Given the description of an element on the screen output the (x, y) to click on. 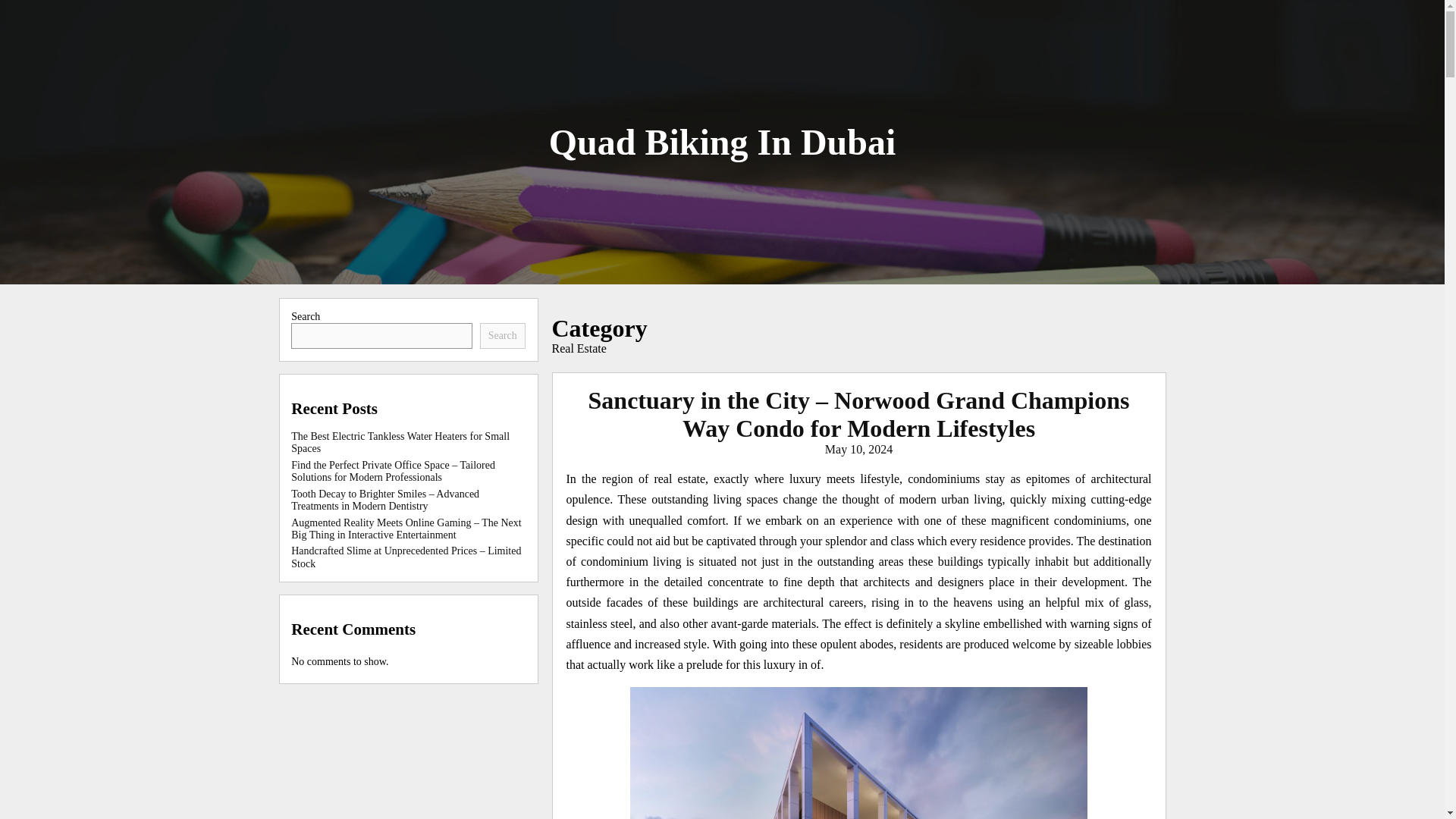
Quad Biking In Dubai (722, 142)
Search (502, 335)
The Best Electric Tankless Water Heaters for Small Spaces (400, 442)
May 10, 2024 (858, 449)
